Given the description of an element on the screen output the (x, y) to click on. 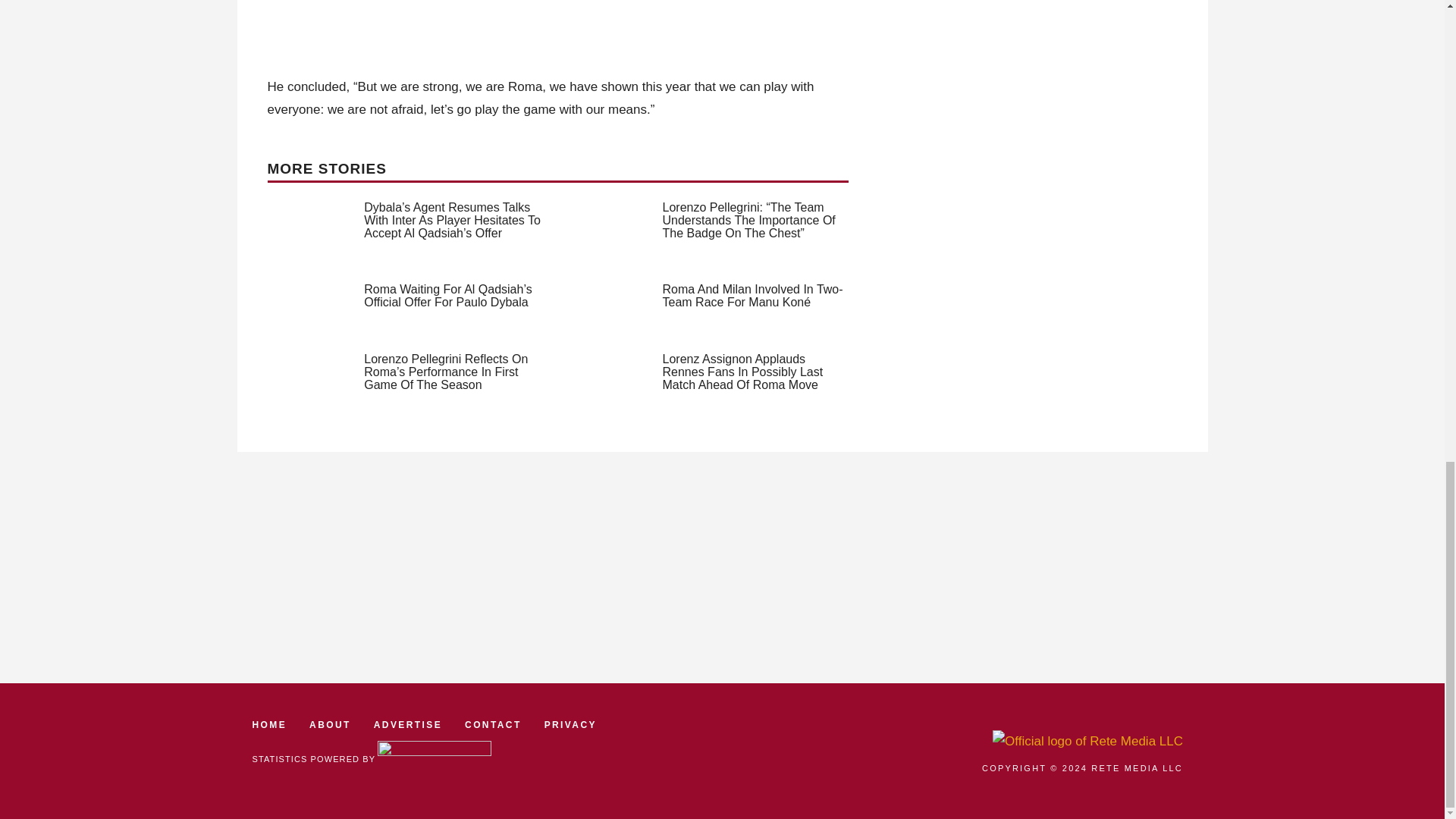
ADVERTISE (408, 725)
ABOUT (329, 725)
CONTACT (492, 725)
HOME (268, 725)
PRIVACY (570, 725)
